Given the description of an element on the screen output the (x, y) to click on. 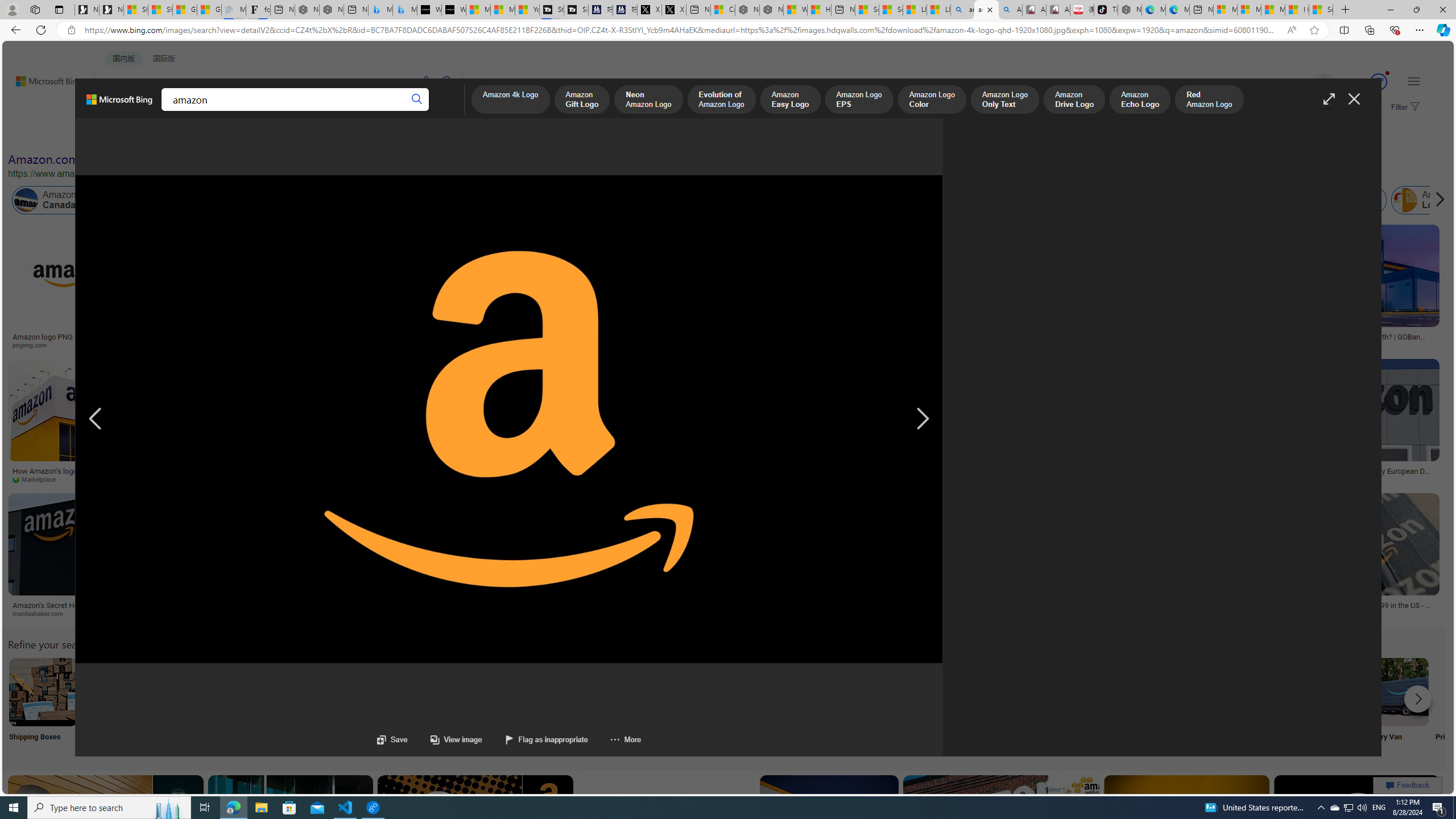
Amazon Retail Store Retail Store (493, 706)
Log into My Account (268, 706)
Long Island Press (232, 479)
Amazon Package Delivery (418, 691)
Image size (127, 135)
Full screen (1328, 99)
